Given the description of an element on the screen output the (x, y) to click on. 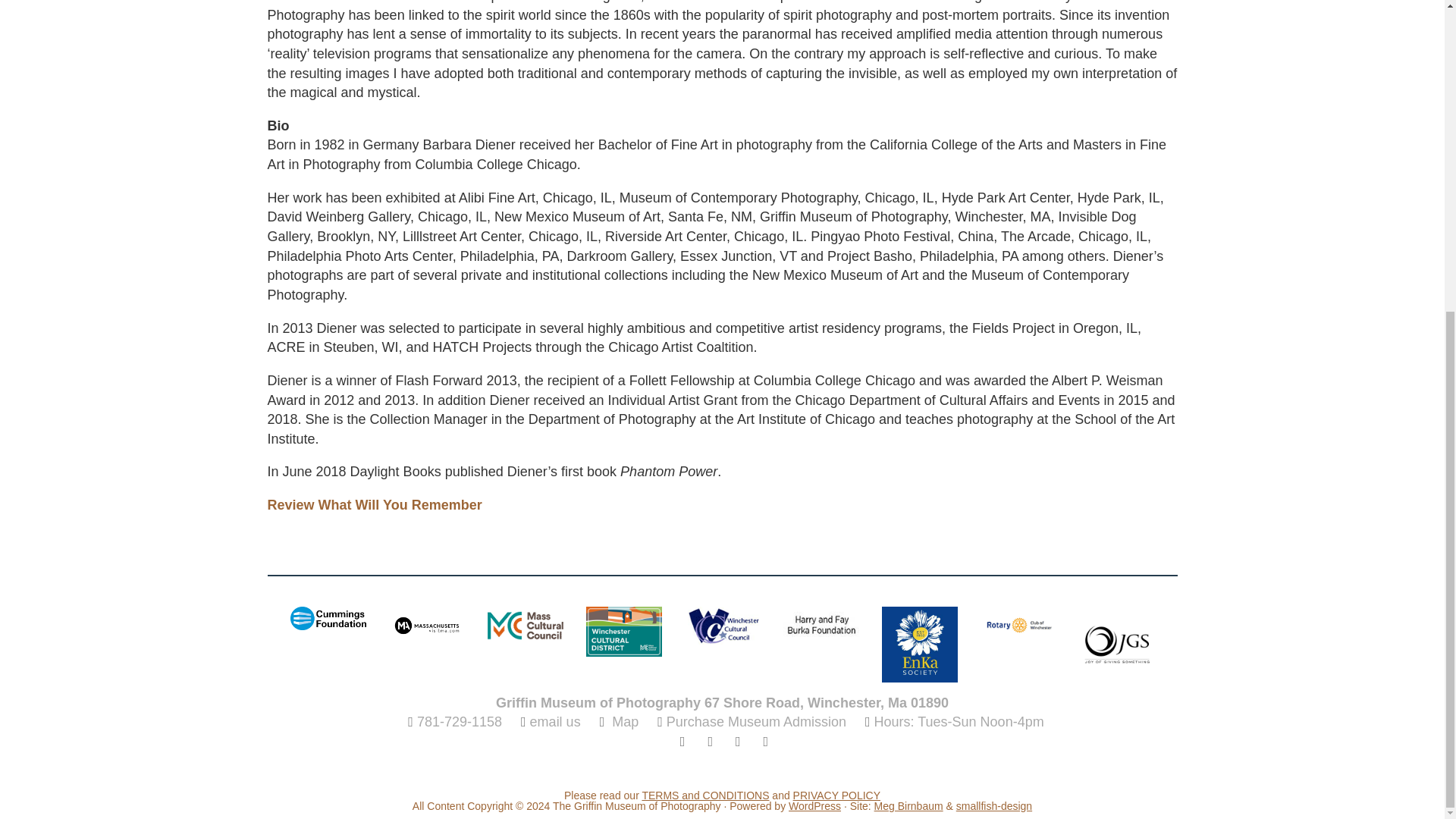
Winchester Cultural District (623, 631)
Cummings Foundation (327, 618)
Mass Cultural Council (524, 625)
click  for  map (600, 721)
Winchester Rotary (1017, 625)
Purchase  Museum Admission (747, 721)
MA tourism and travel (426, 625)
En Ka Society (918, 644)
Winchester Cultural Council (722, 625)
